Given the description of an element on the screen output the (x, y) to click on. 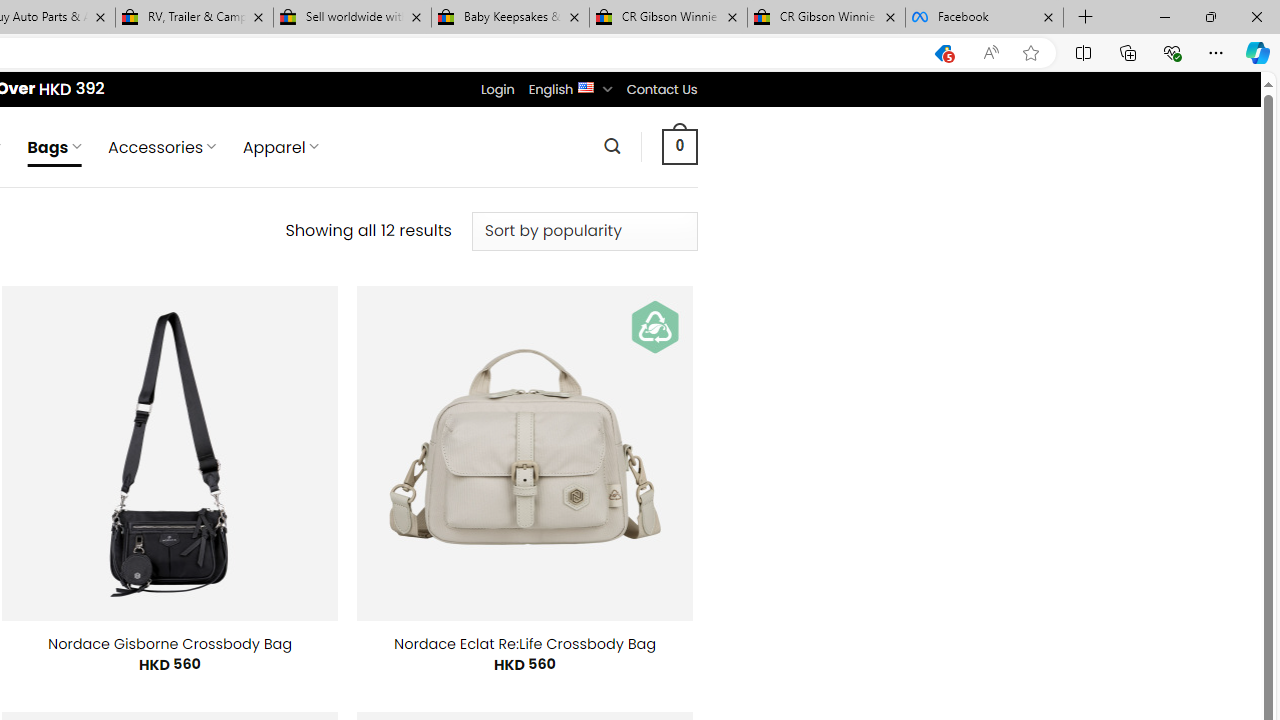
Contact Us (661, 89)
  0   (679, 146)
Search (612, 146)
Nordace Eclat Re:Life Crossbody Bag (524, 643)
Nordace Gisborne Crossbody Bag (169, 643)
Login (497, 89)
